Given the description of an element on the screen output the (x, y) to click on. 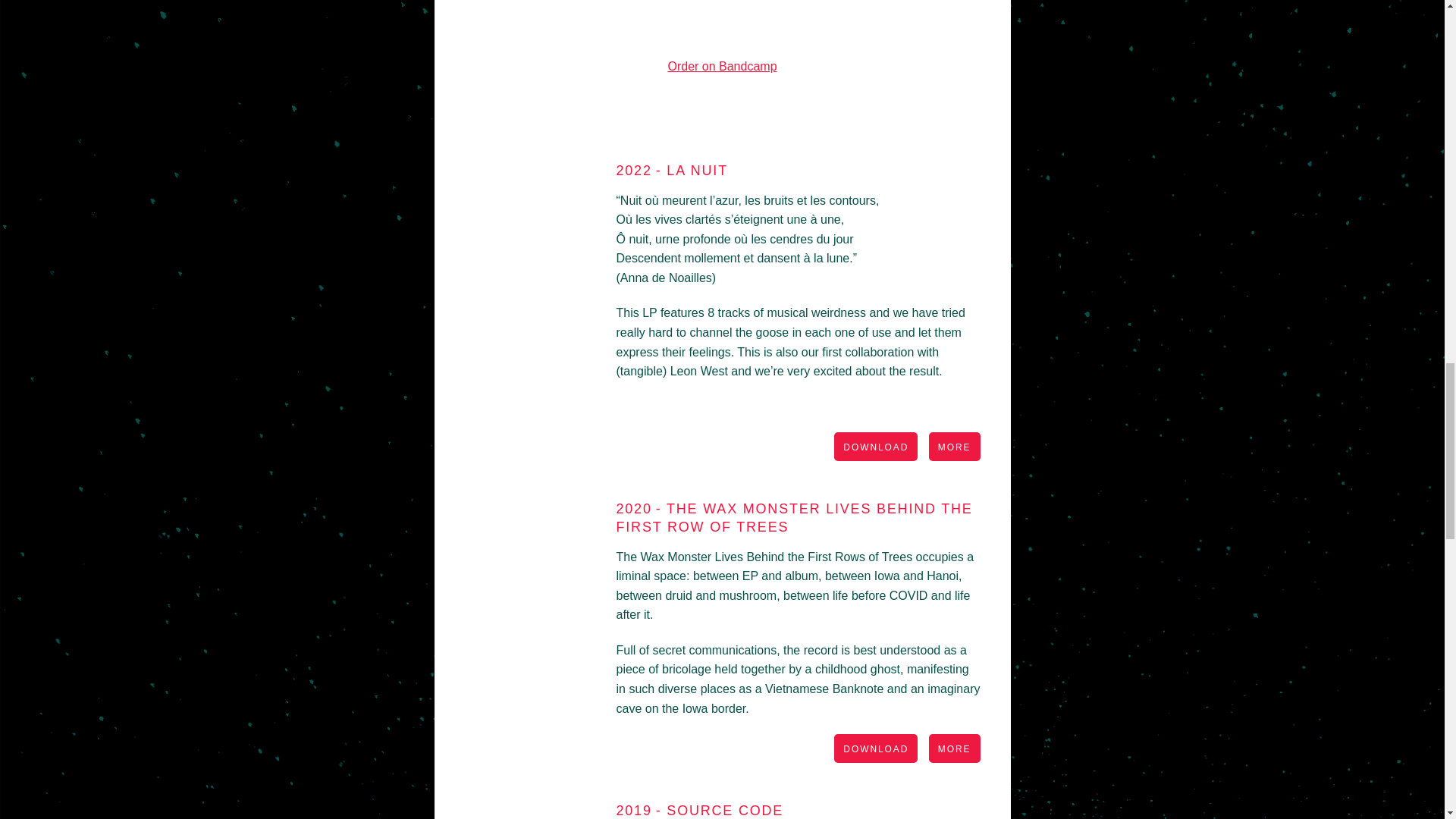
- SOURCE CODE (719, 810)
2019 (632, 810)
Moon Goose - 2023 AD (721, 18)
MORE (954, 748)
- LA NUIT (692, 170)
- THE WAX MONSTER LIVES BEHIND THE FIRST ROW OF TREES (793, 517)
Order on Bandcamp (721, 65)
DOWNLOAD (875, 748)
DOWNLOAD (875, 447)
2020 (632, 508)
